Given the description of an element on the screen output the (x, y) to click on. 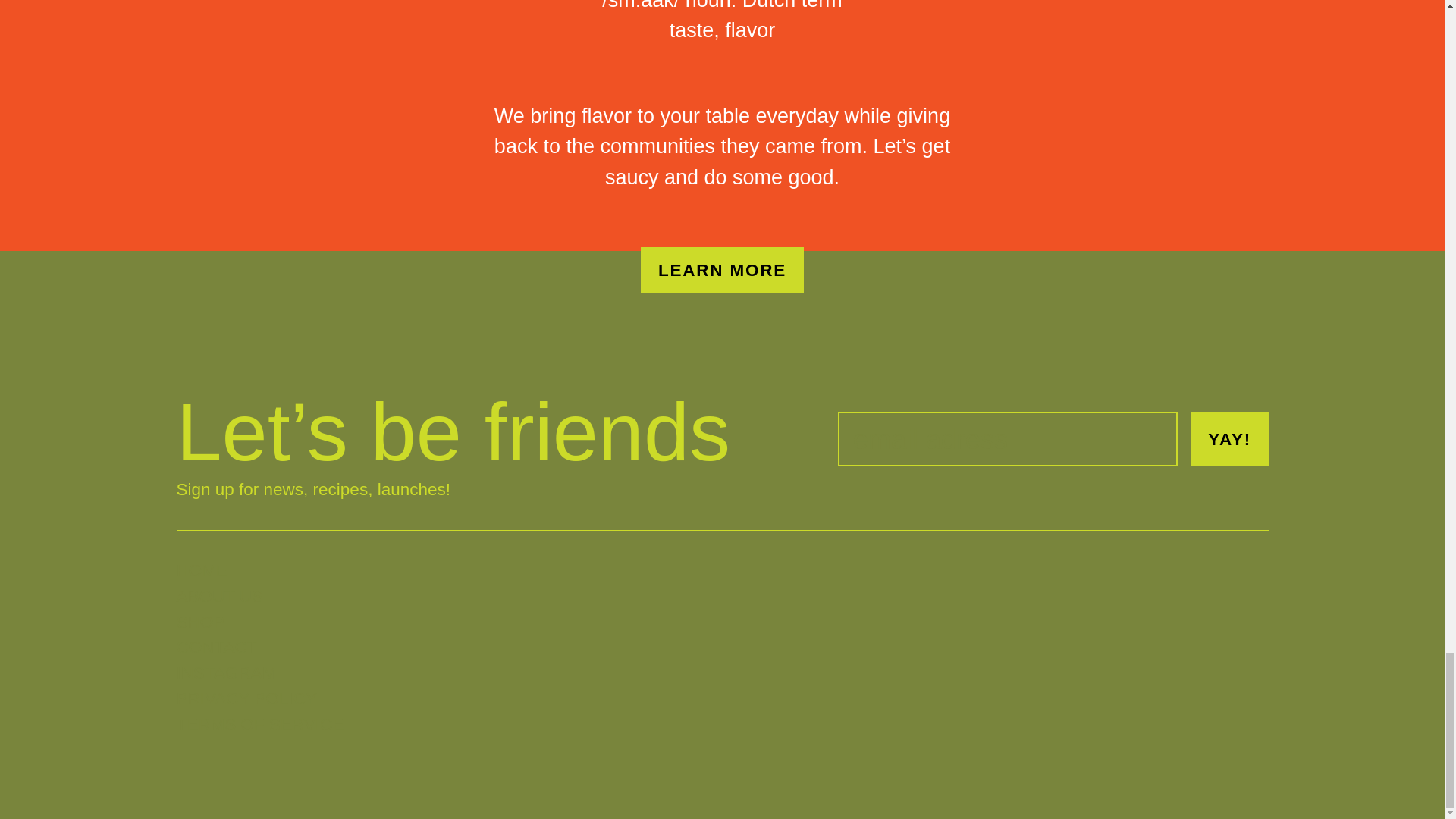
SHOP (259, 622)
HOME (259, 570)
LEARN MORE (721, 270)
ABOUT US (259, 596)
yay! (1229, 438)
CONTACT (259, 647)
INSTAGRAM (259, 673)
yay! (1229, 438)
